Given the description of an element on the screen output the (x, y) to click on. 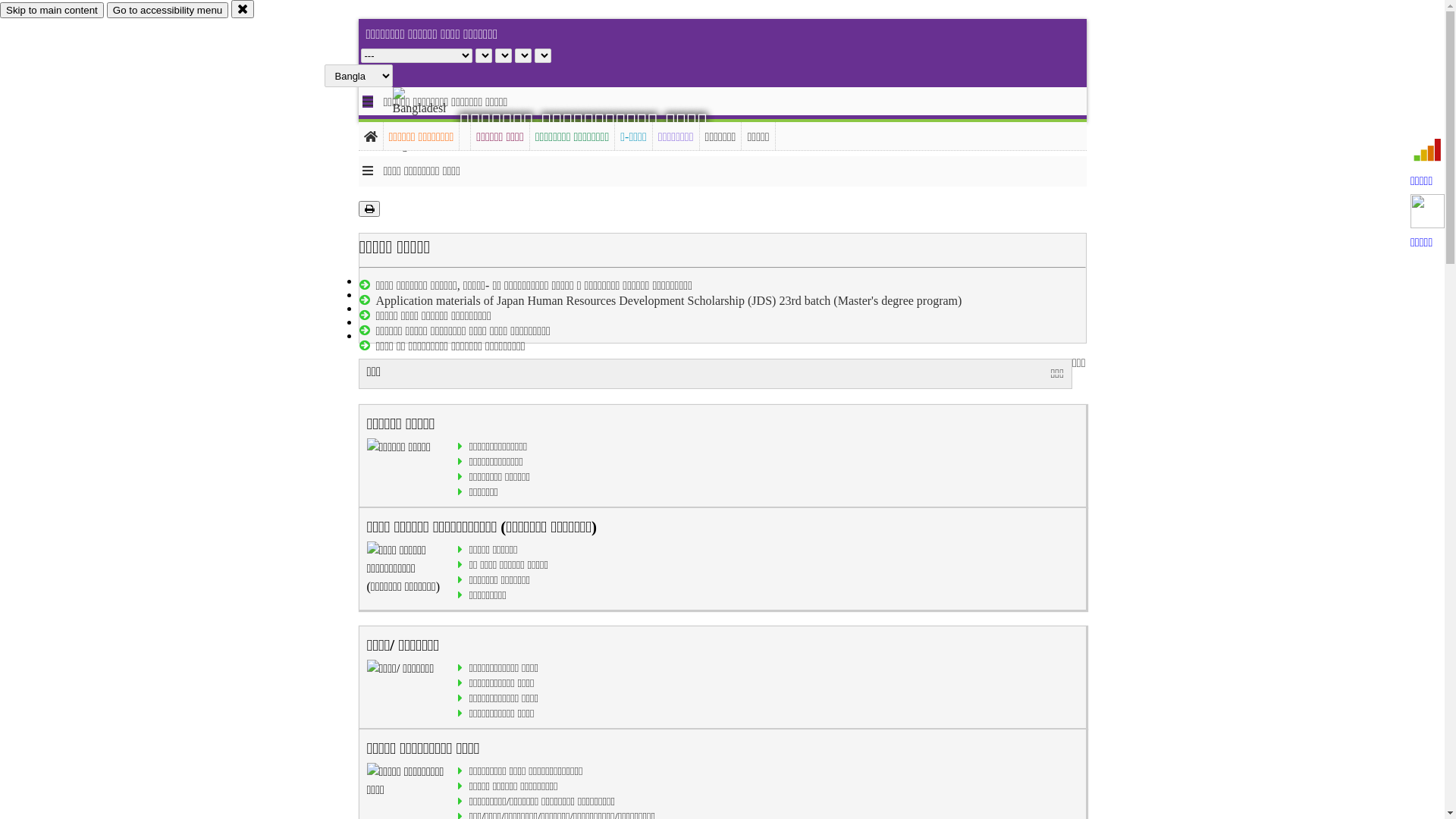
Go to accessibility menu Element type: text (167, 10)
Skip to main content Element type: text (51, 10)

                
             Element type: hover (431, 120)
close Element type: hover (242, 9)
